Given the description of an element on the screen output the (x, y) to click on. 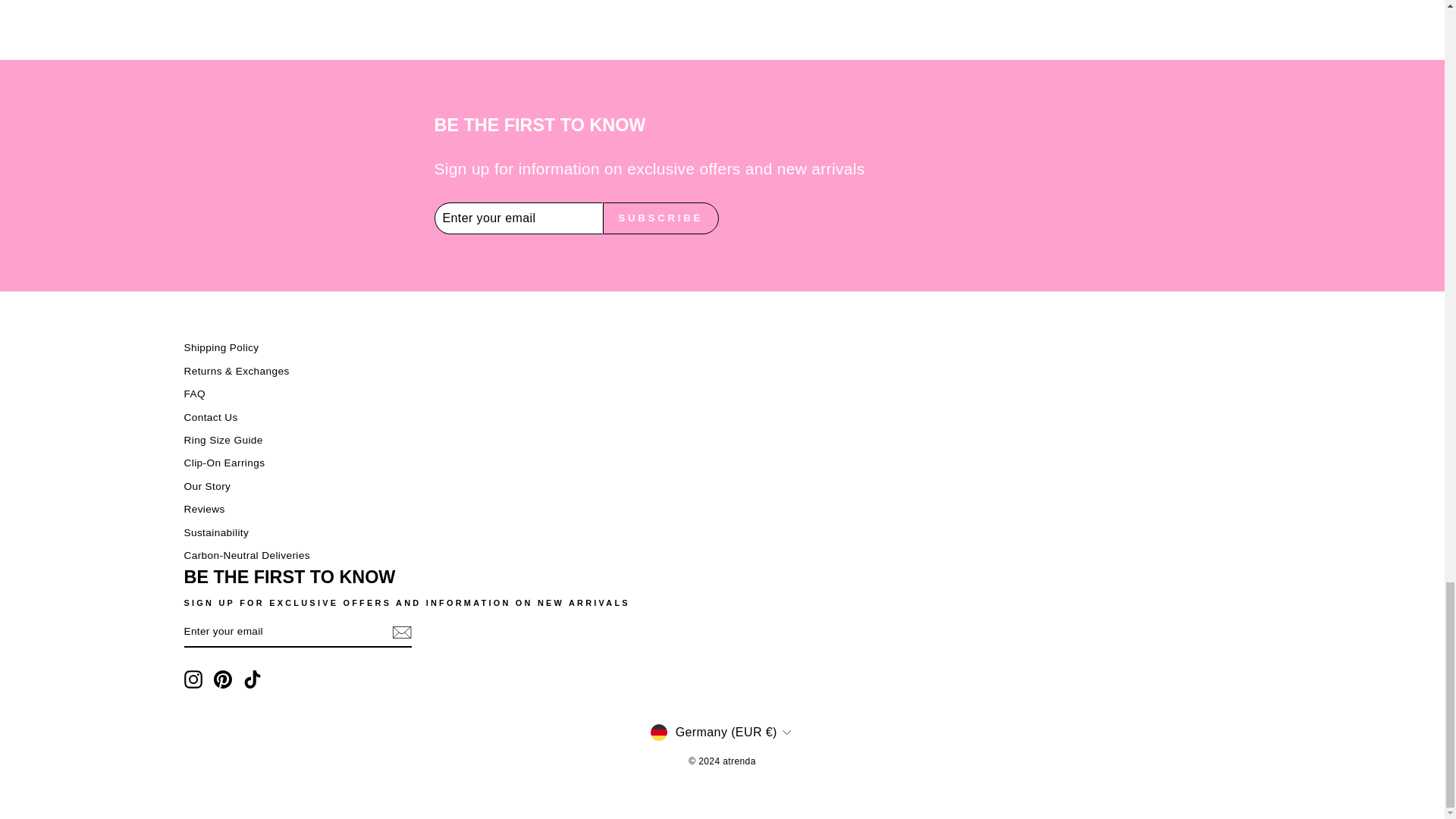
atrenda on Pinterest (222, 679)
atrenda on TikTok (251, 679)
atrenda on Instagram (192, 679)
